Given the description of an element on the screen output the (x, y) to click on. 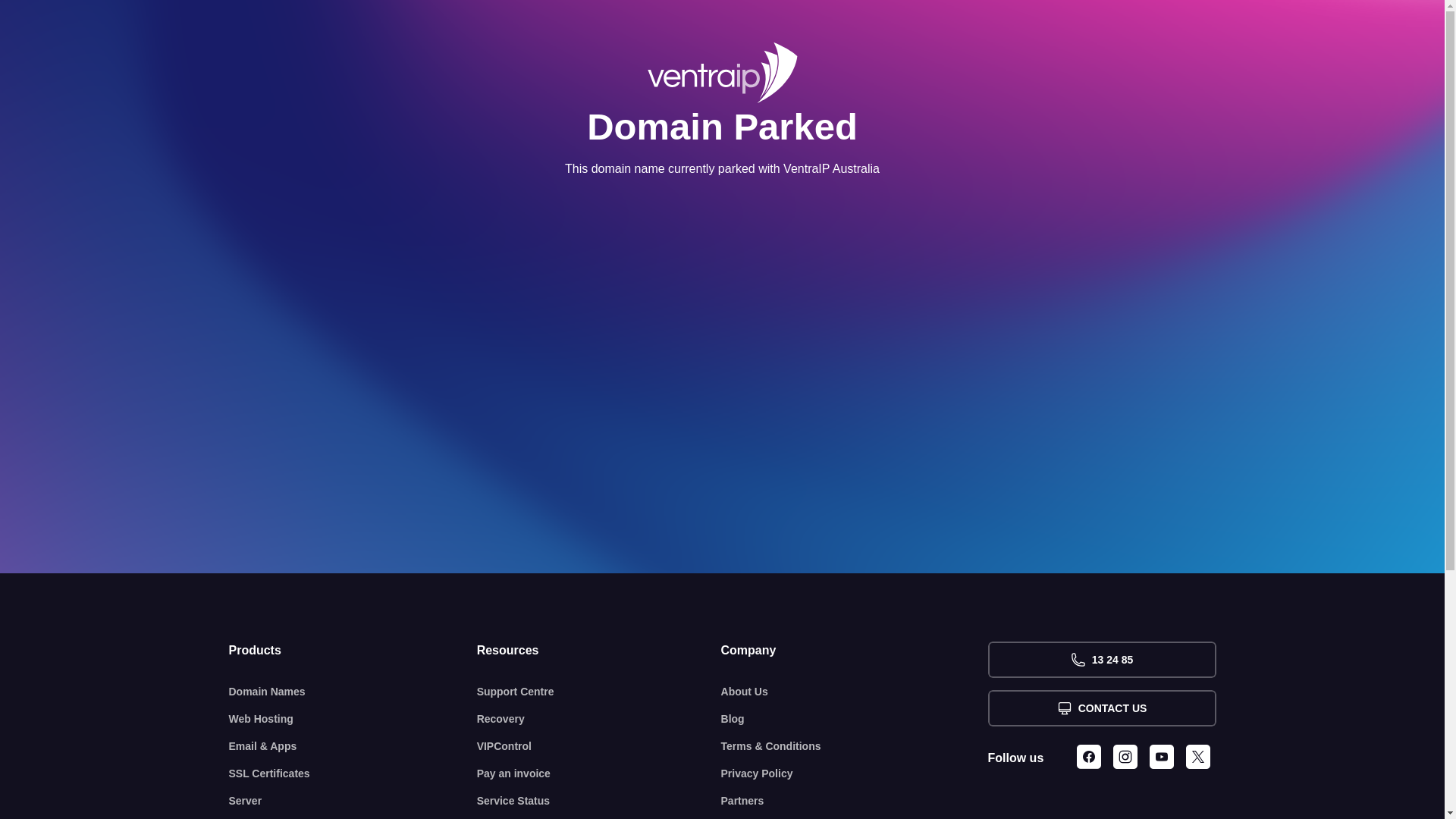
Support Centre Element type: text (598, 691)
Partners Element type: text (854, 800)
13 24 85 Element type: text (1101, 659)
Recovery Element type: text (598, 718)
Privacy Policy Element type: text (854, 773)
Domain Names Element type: text (352, 691)
VIPControl Element type: text (598, 745)
SSL Certificates Element type: text (352, 773)
CONTACT US Element type: text (1101, 708)
About Us Element type: text (854, 691)
Server Element type: text (352, 800)
Terms & Conditions Element type: text (854, 745)
Web Hosting Element type: text (352, 718)
Email & Apps Element type: text (352, 745)
Blog Element type: text (854, 718)
Service Status Element type: text (598, 800)
Pay an invoice Element type: text (598, 773)
